Given the description of an element on the screen output the (x, y) to click on. 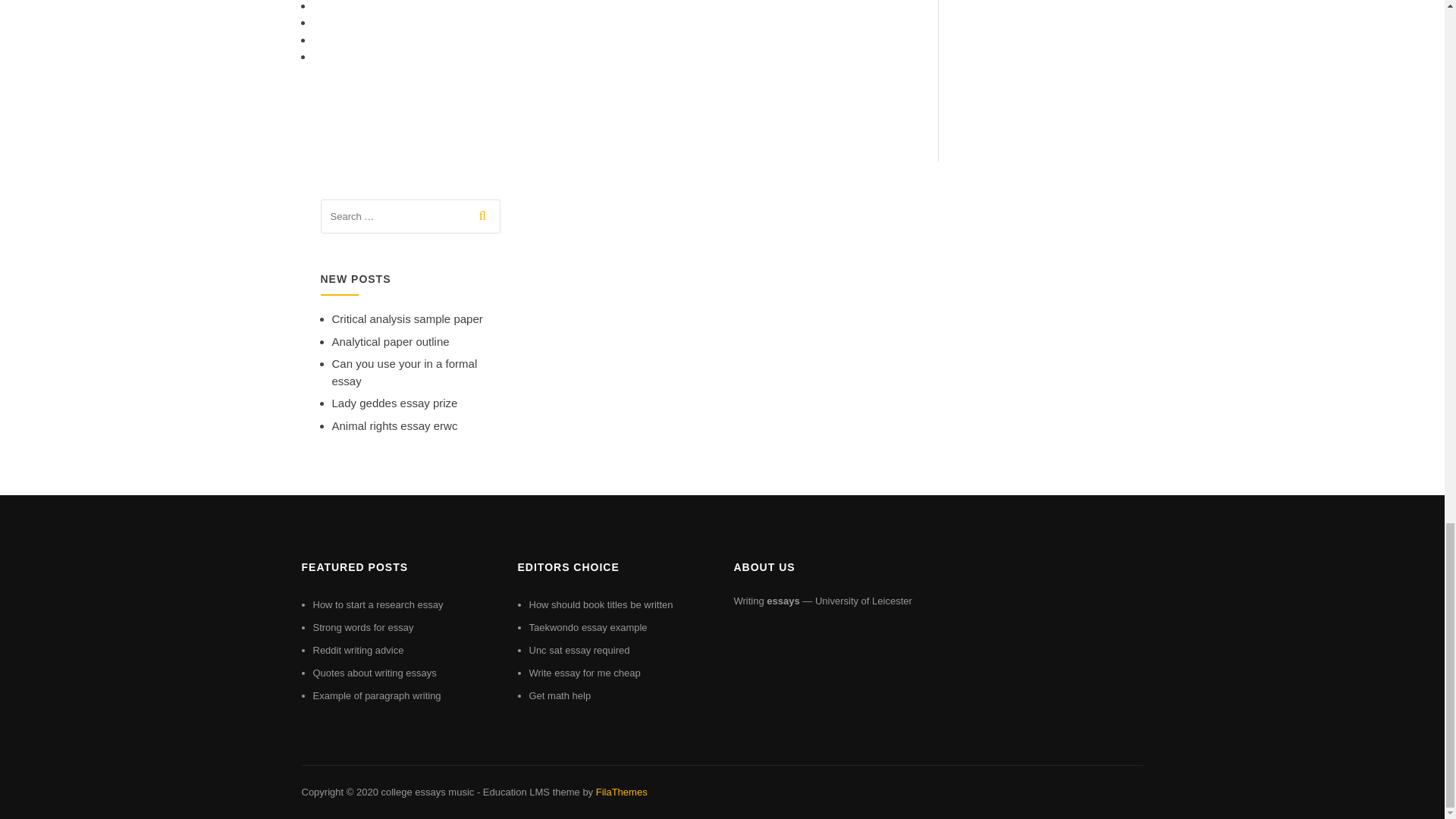
Reddit writing advice (358, 650)
Lady geddes essay prize (394, 402)
Example of paragraph writing (377, 695)
Write essay for me cheap (584, 672)
Animal rights essay erwc (394, 425)
Strong words for essay (363, 627)
Get math help (560, 695)
college essays music (427, 791)
Quotes about writing essays (374, 672)
college essays music (427, 791)
Unc sat essay required (579, 650)
How should book titles be written (600, 604)
Can you use your in a formal essay (404, 372)
Taekwondo essay example (588, 627)
How to start a research essay (377, 604)
